Given the description of an element on the screen output the (x, y) to click on. 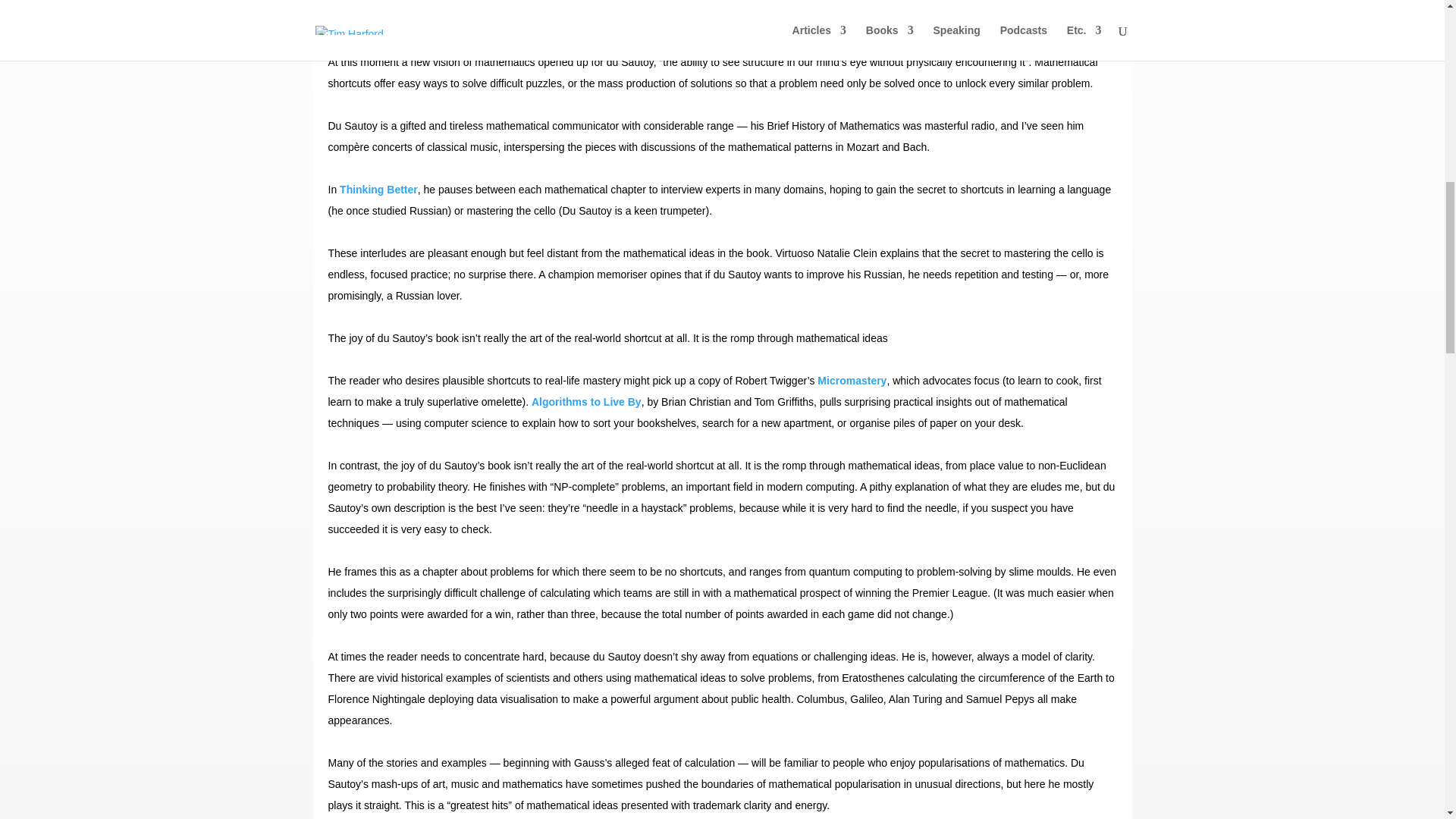
Algorithms to Live By (586, 401)
Thinking Better (378, 189)
Micromastery (851, 380)
